Given the description of an element on the screen output the (x, y) to click on. 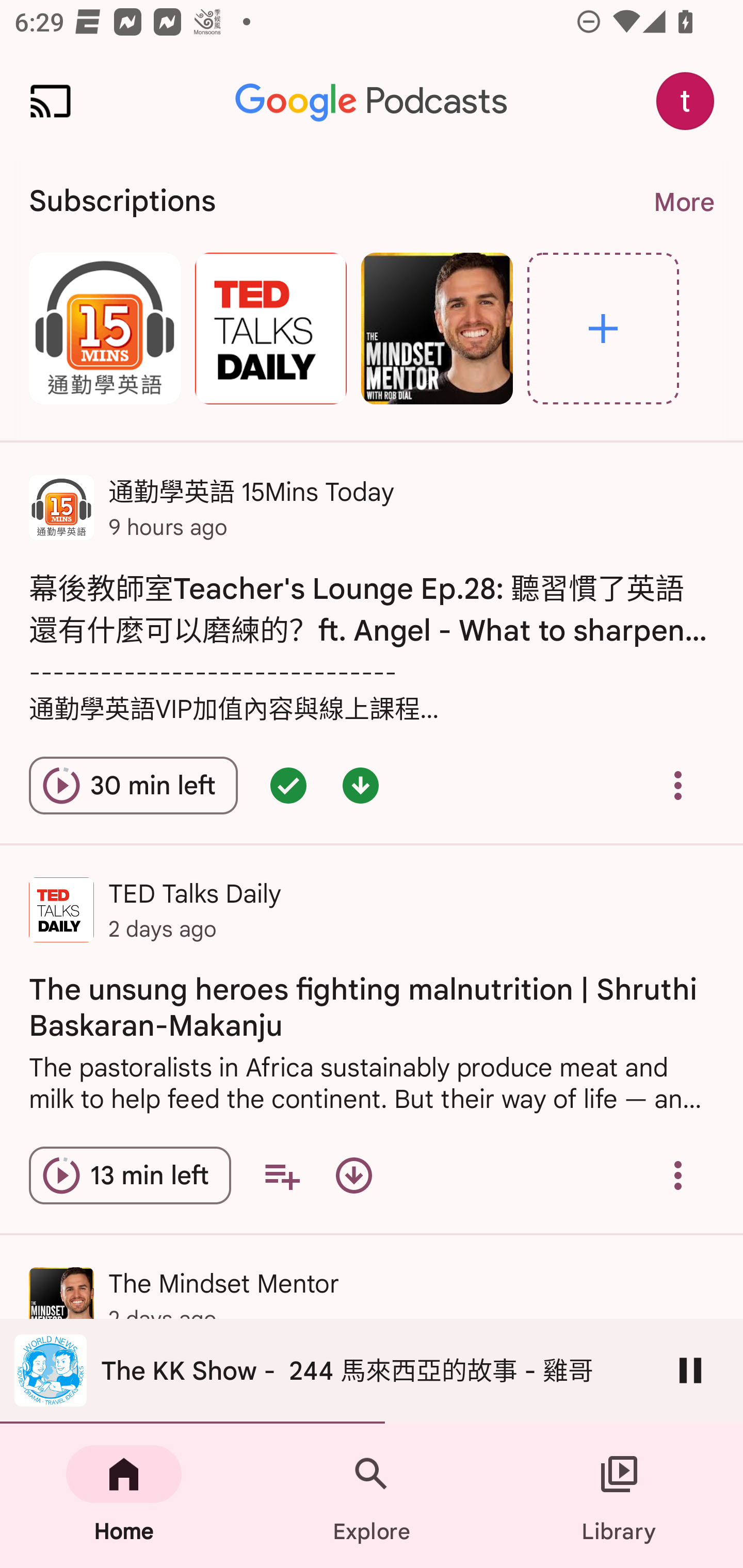
Cast. Disconnected (50, 101)
More More. Navigate to subscriptions page. (683, 202)
通勤學英語 15Mins Today (104, 328)
TED Talks Daily (270, 328)
The Mindset Mentor (436, 328)
Explore (603, 328)
Episode queued - double tap for options (288, 785)
Episode downloaded - double tap for options (360, 785)
Overflow menu (677, 785)
Add to your queue (281, 1175)
Download episode (354, 1175)
Overflow menu (677, 1175)
Pause (690, 1370)
Explore (371, 1495)
Library (619, 1495)
